Given the description of an element on the screen output the (x, y) to click on. 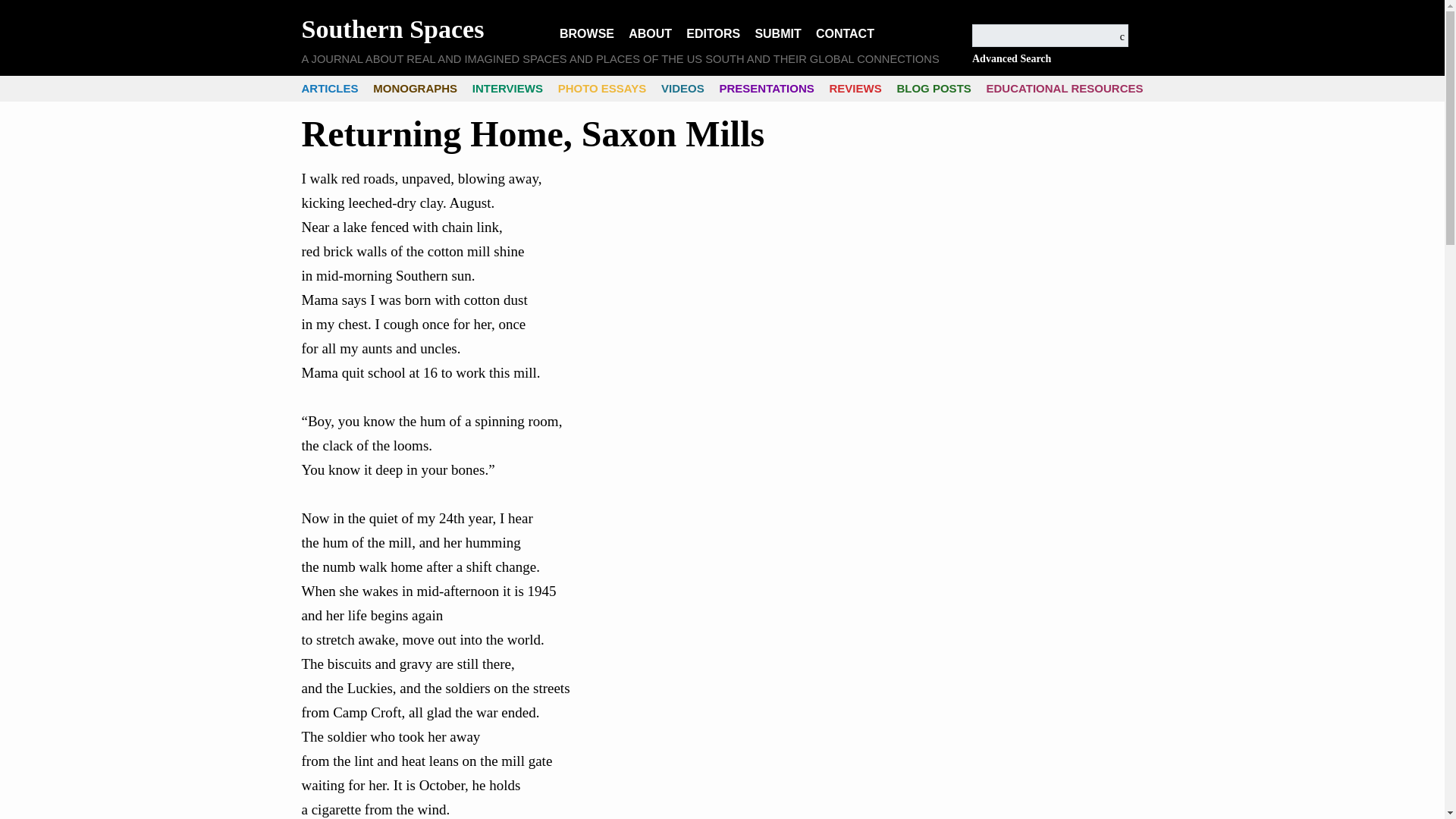
Search for: (1050, 35)
BROWSE (586, 34)
